Given the description of an element on the screen output the (x, y) to click on. 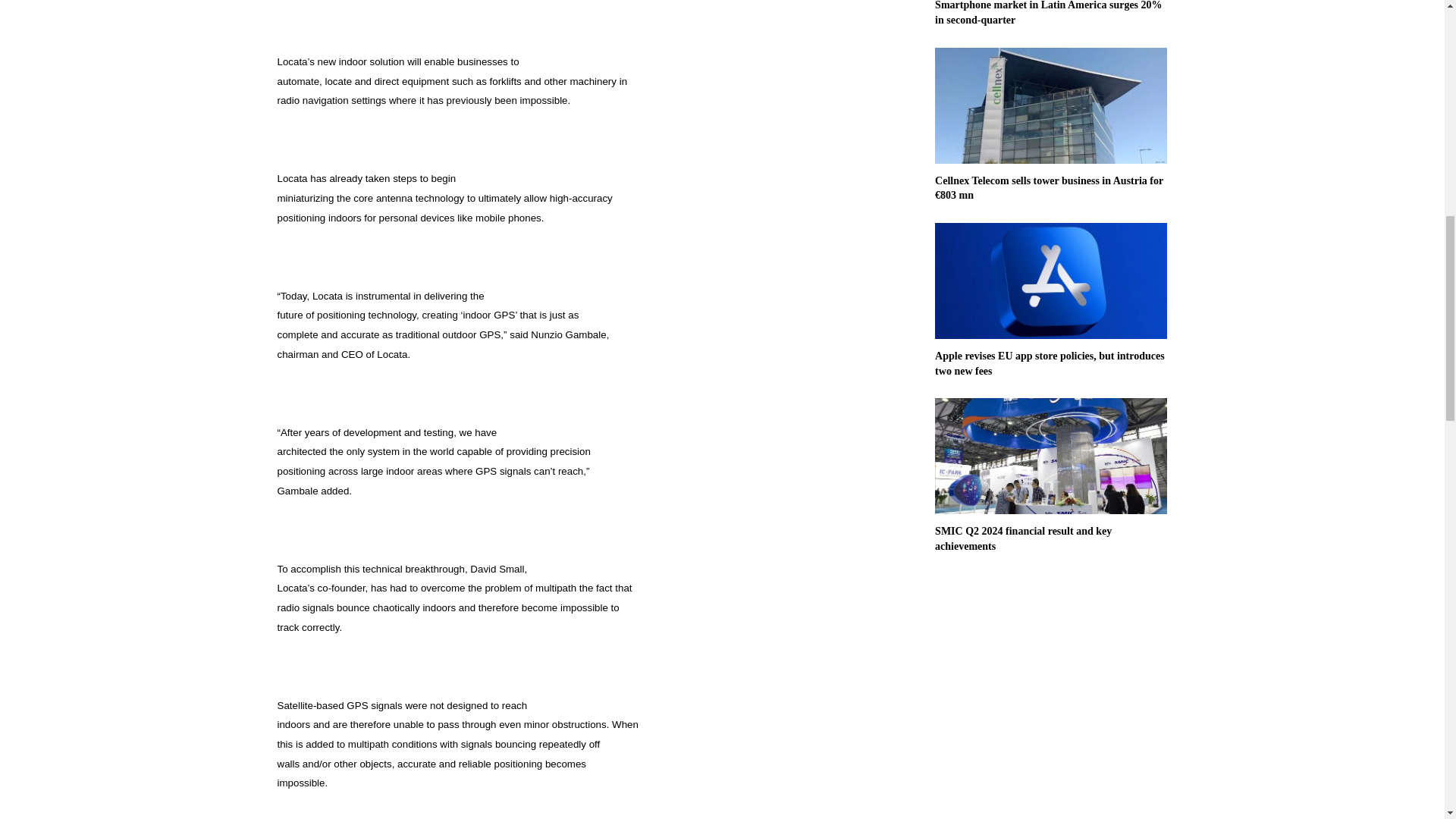
SMIC Q2 2024 financial result and key achievements (1023, 538)
SMIC Q2 2024 financial result and key achievements (1050, 456)
SMIC Q2 2024 financial result and key achievements (1023, 538)
